Given the description of an element on the screen output the (x, y) to click on. 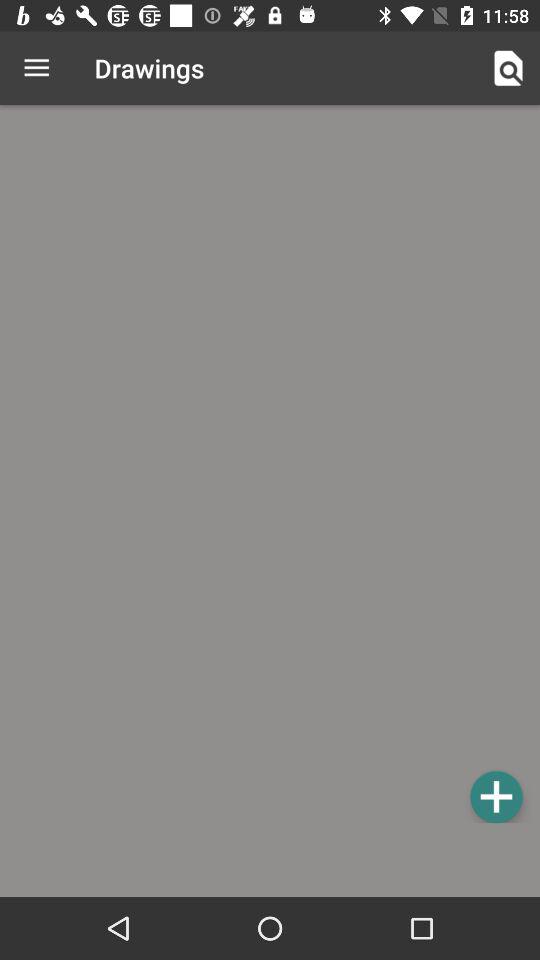
choose the icon at the top right corner (508, 67)
